Given the description of an element on the screen output the (x, y) to click on. 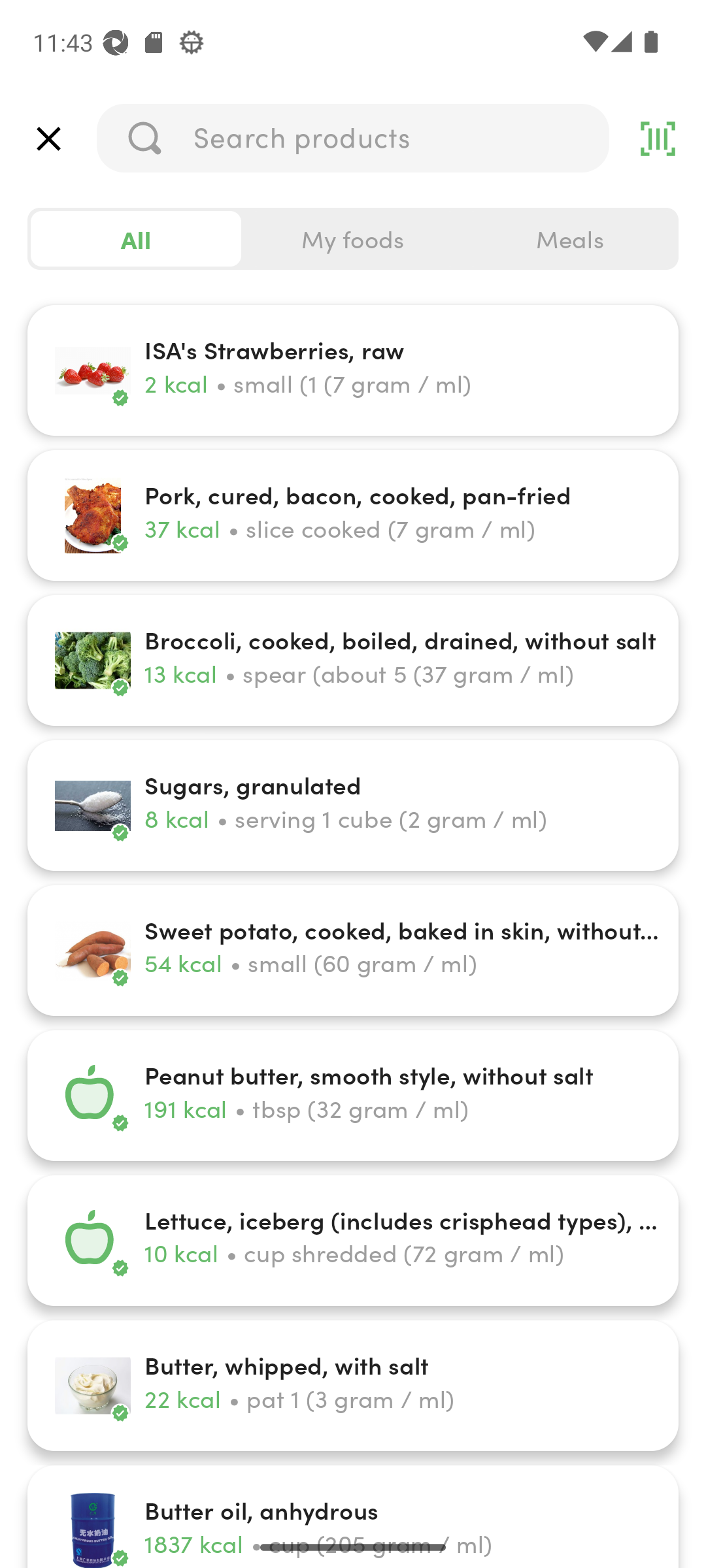
top_left_action (48, 138)
top_right_action (658, 138)
My foods (352, 238)
Meals (569, 238)
